Given the description of an element on the screen output the (x, y) to click on. 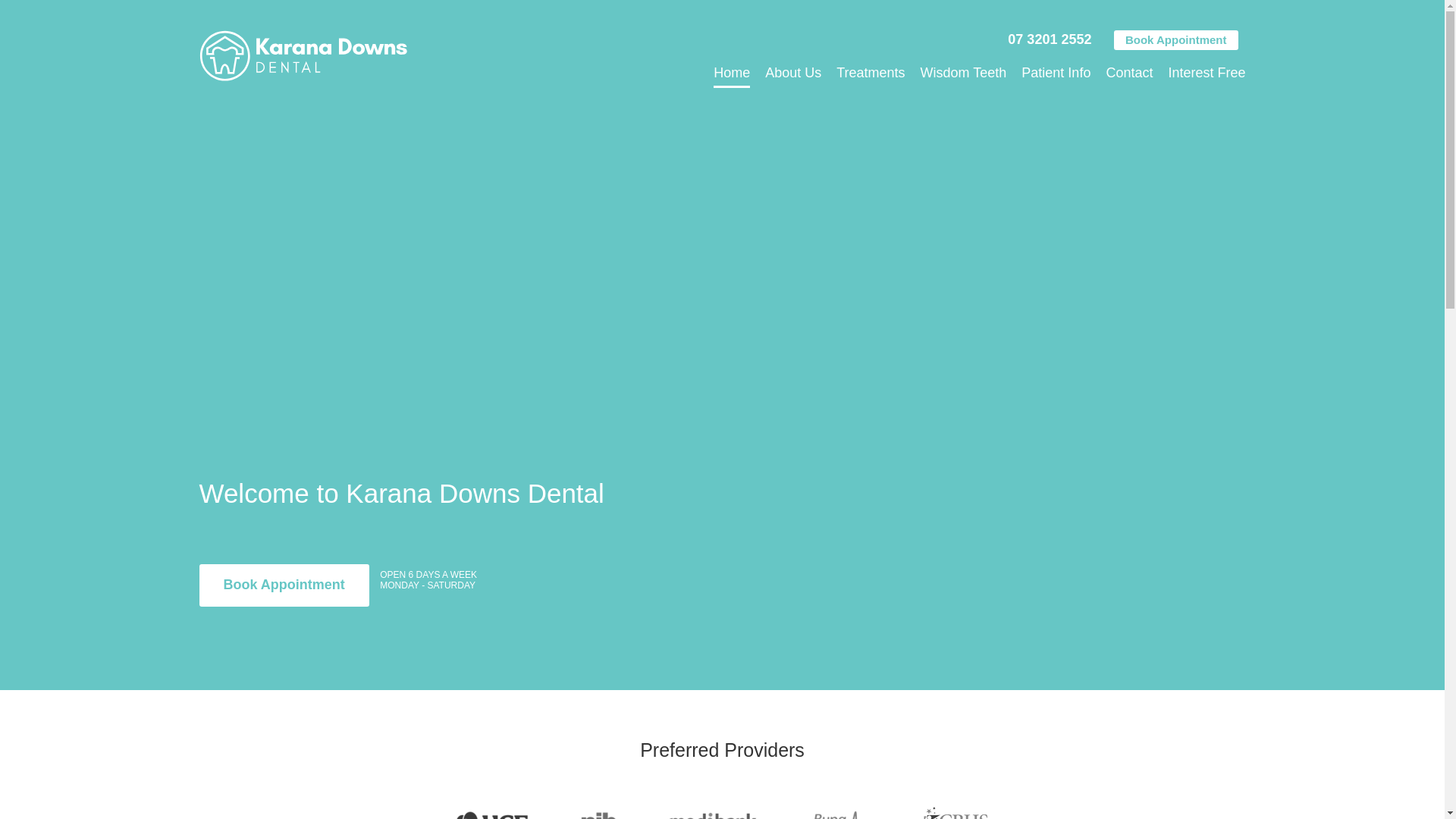
Interest Free Element type: text (1206, 73)
Home Element type: text (731, 73)
Patient Info Element type: text (1055, 73)
07 3201 2552 Element type: text (1049, 39)
Wisdom Teeth Element type: text (963, 73)
Contact Element type: text (1128, 73)
Treatments Element type: text (870, 73)
Book Appointment Element type: text (283, 585)
Book Appointment Element type: text (1175, 40)
About Us Element type: text (793, 73)
